Given the description of an element on the screen output the (x, y) to click on. 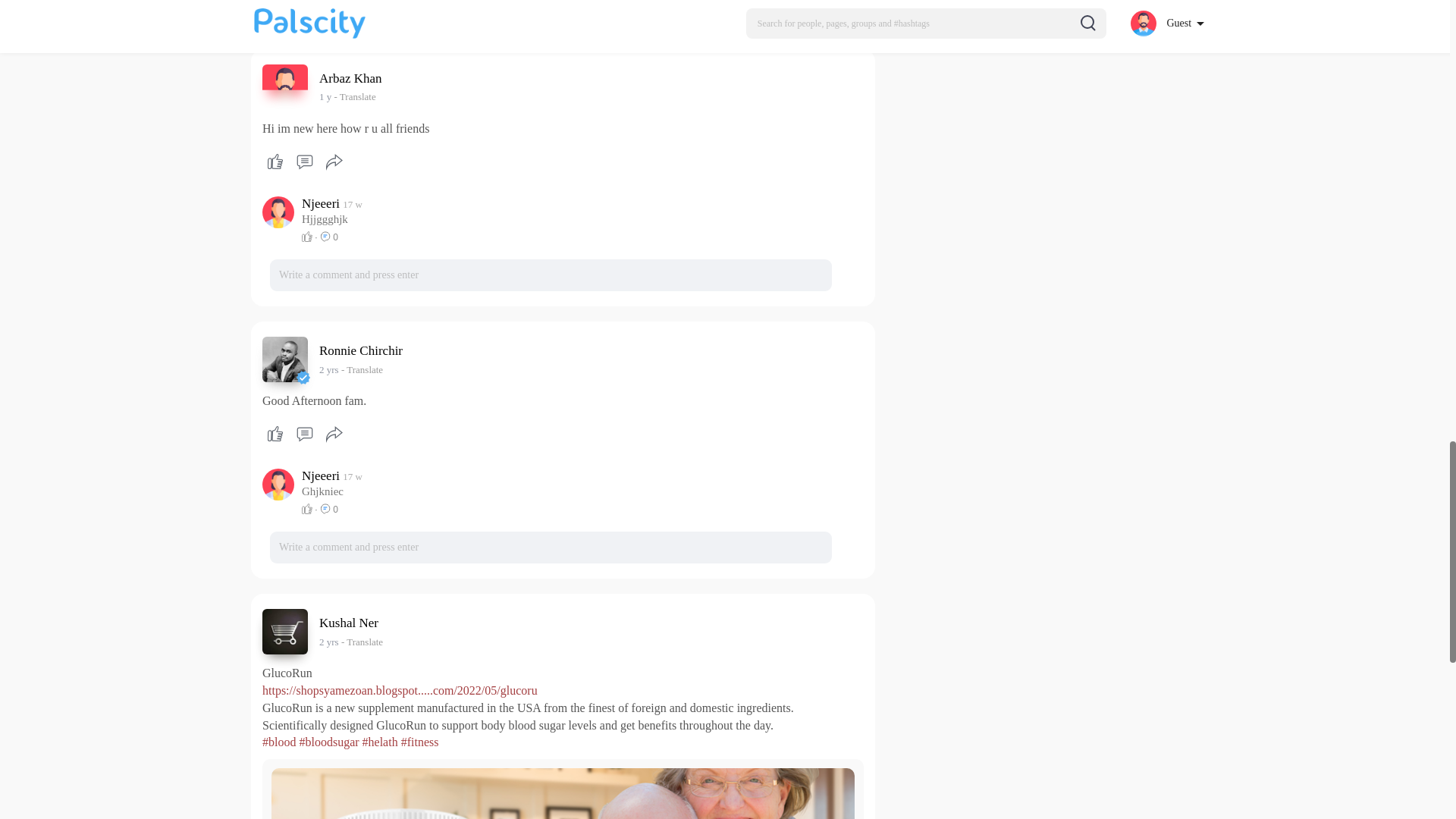
Njeeeri (321, 476)
Translate (354, 96)
Share (334, 162)
Njeeeri (321, 203)
Ronnie Chirchir (362, 350)
2 yrs (328, 369)
Arbaz Khan (352, 78)
1 y (324, 96)
1 y (324, 96)
Comments (304, 162)
